Given the description of an element on the screen output the (x, y) to click on. 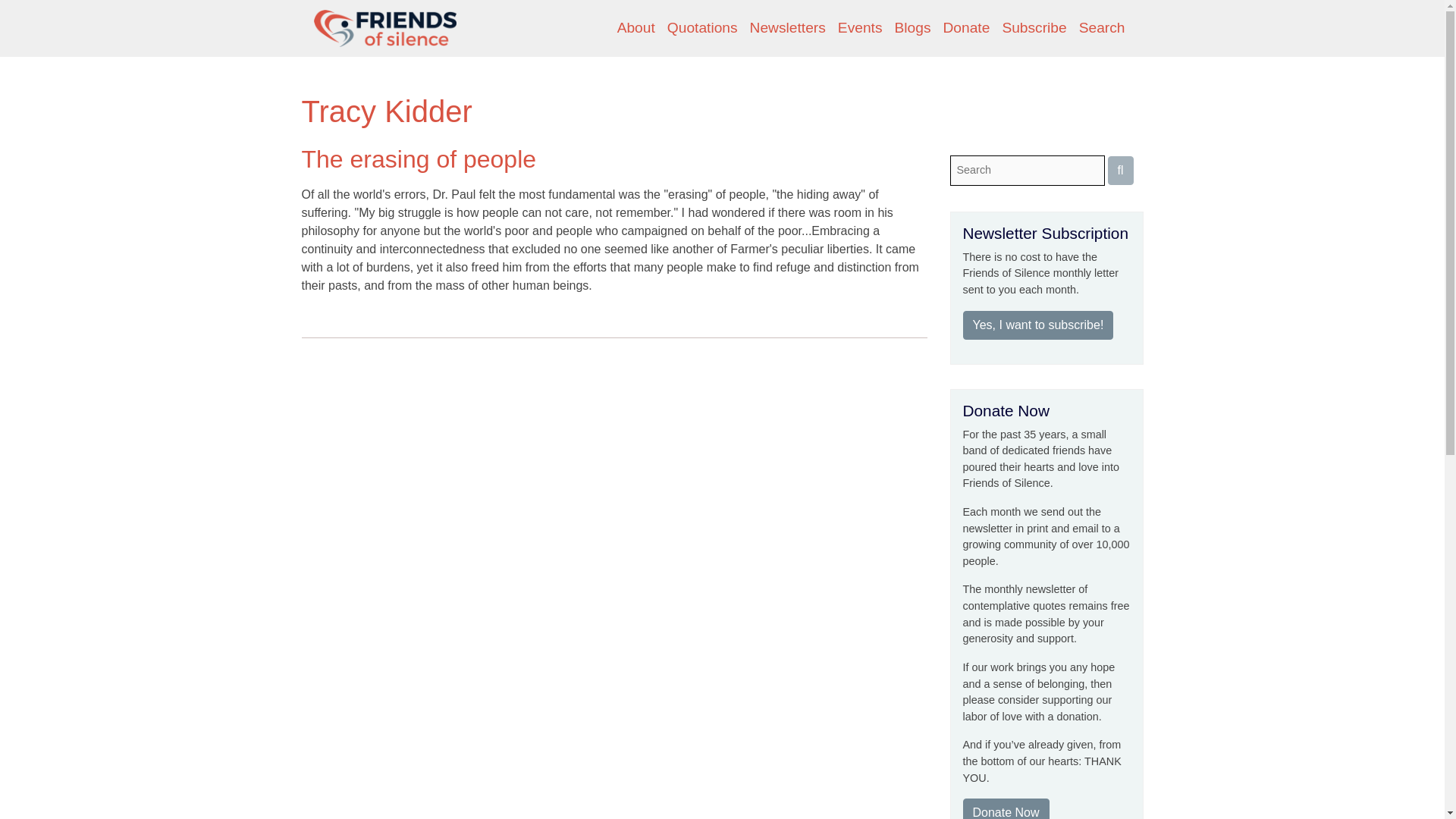
Enter the keywords you wish to search for. (1026, 170)
Events (859, 28)
Blogs (912, 28)
Donate Now (1005, 808)
Search (1102, 28)
Subscribe (1033, 28)
The erasing of people (419, 158)
Yes, I want to subscribe! (1037, 325)
Donate (966, 28)
